Given the description of an element on the screen output the (x, y) to click on. 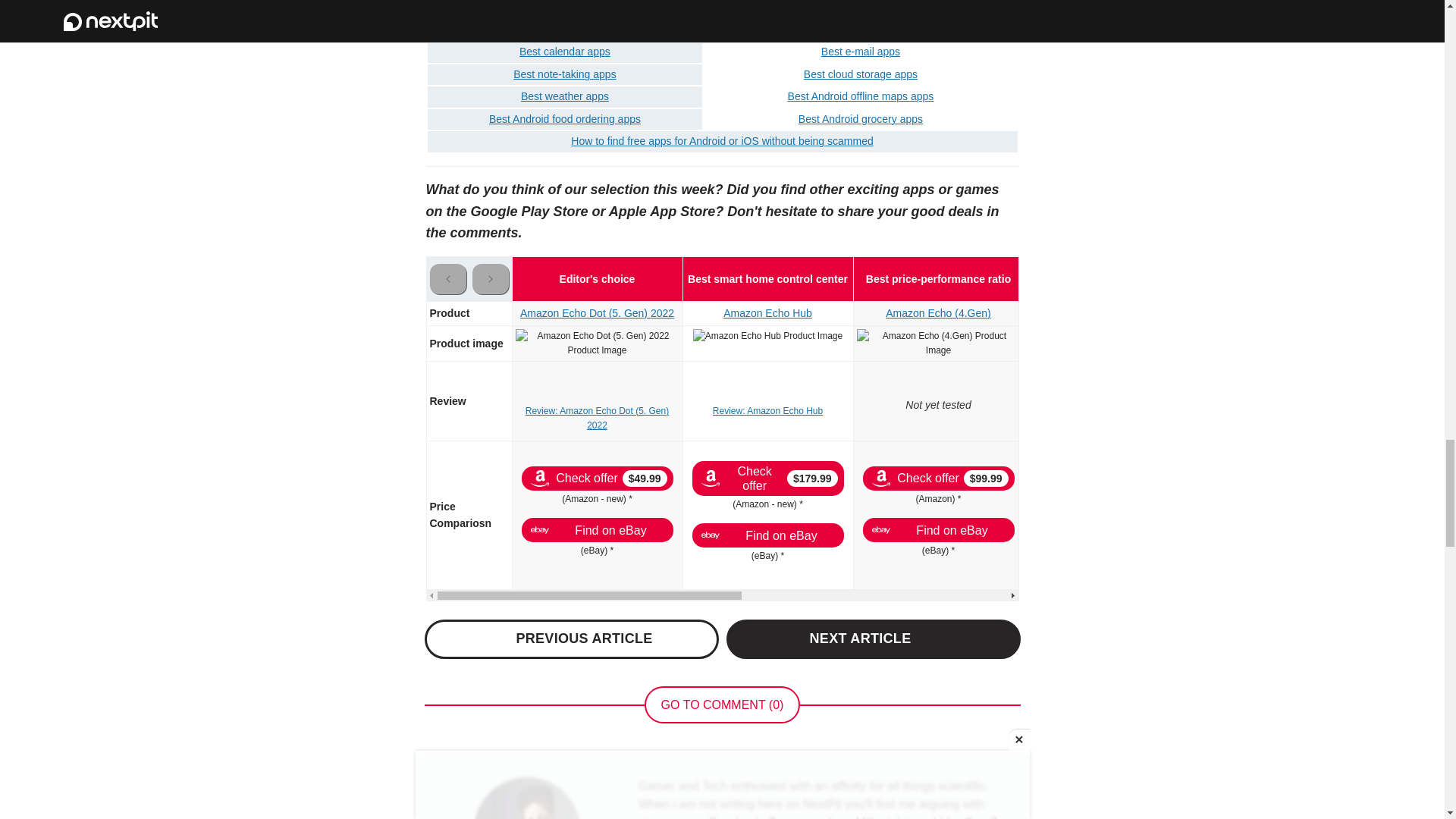
Amazon Echo Studio Product Image (1108, 336)
Amazon Echo Sub Product Image (1279, 336)
Amazon Echo Hub Product Image (768, 336)
